Given the description of an element on the screen output the (x, y) to click on. 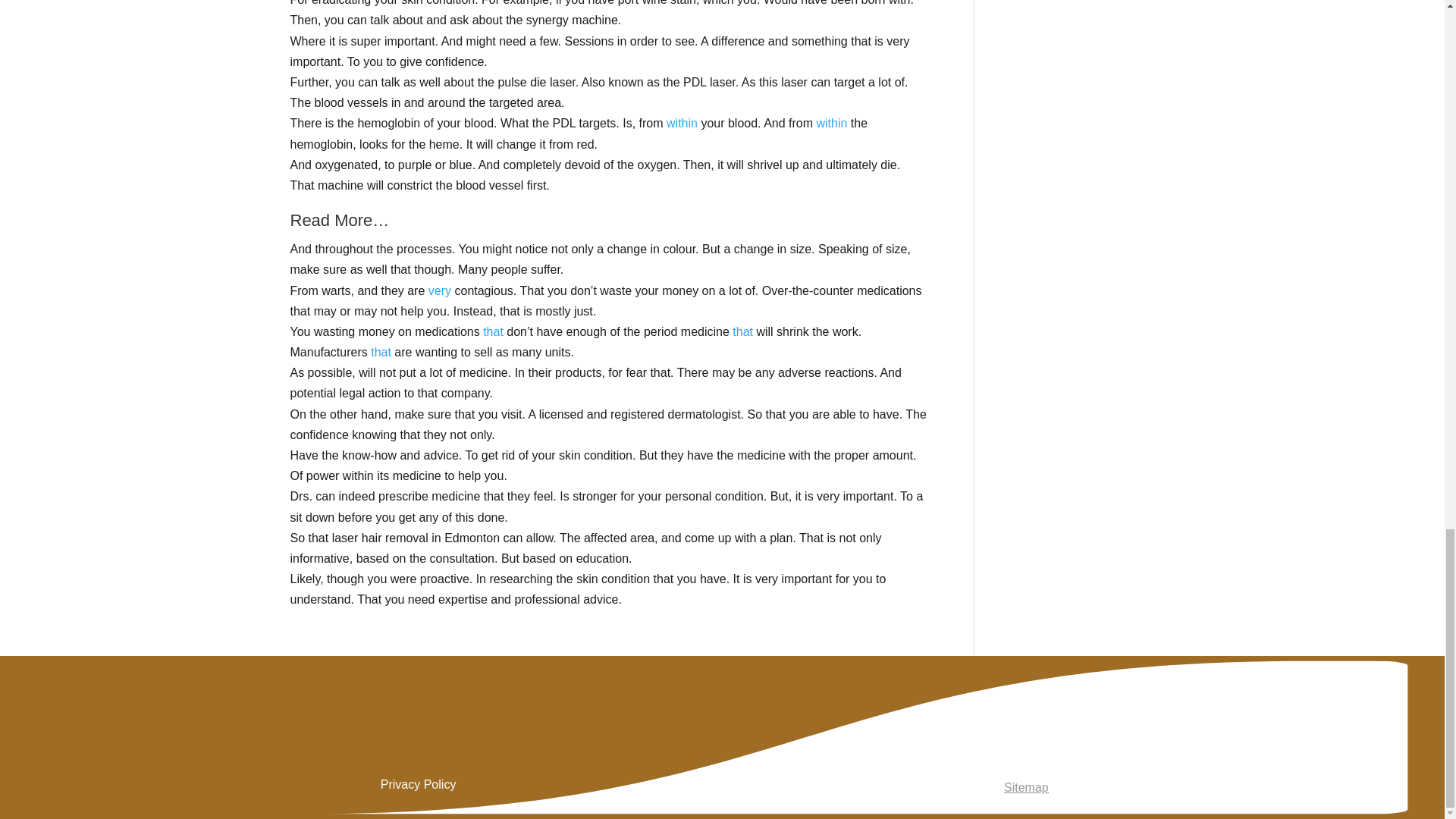
within (681, 123)
leaf (1026, 736)
very (439, 289)
Privacy Policy (418, 784)
within (831, 123)
that (381, 351)
that (493, 331)
Sitemap (1026, 787)
that (742, 331)
